Given the description of an element on the screen output the (x, y) to click on. 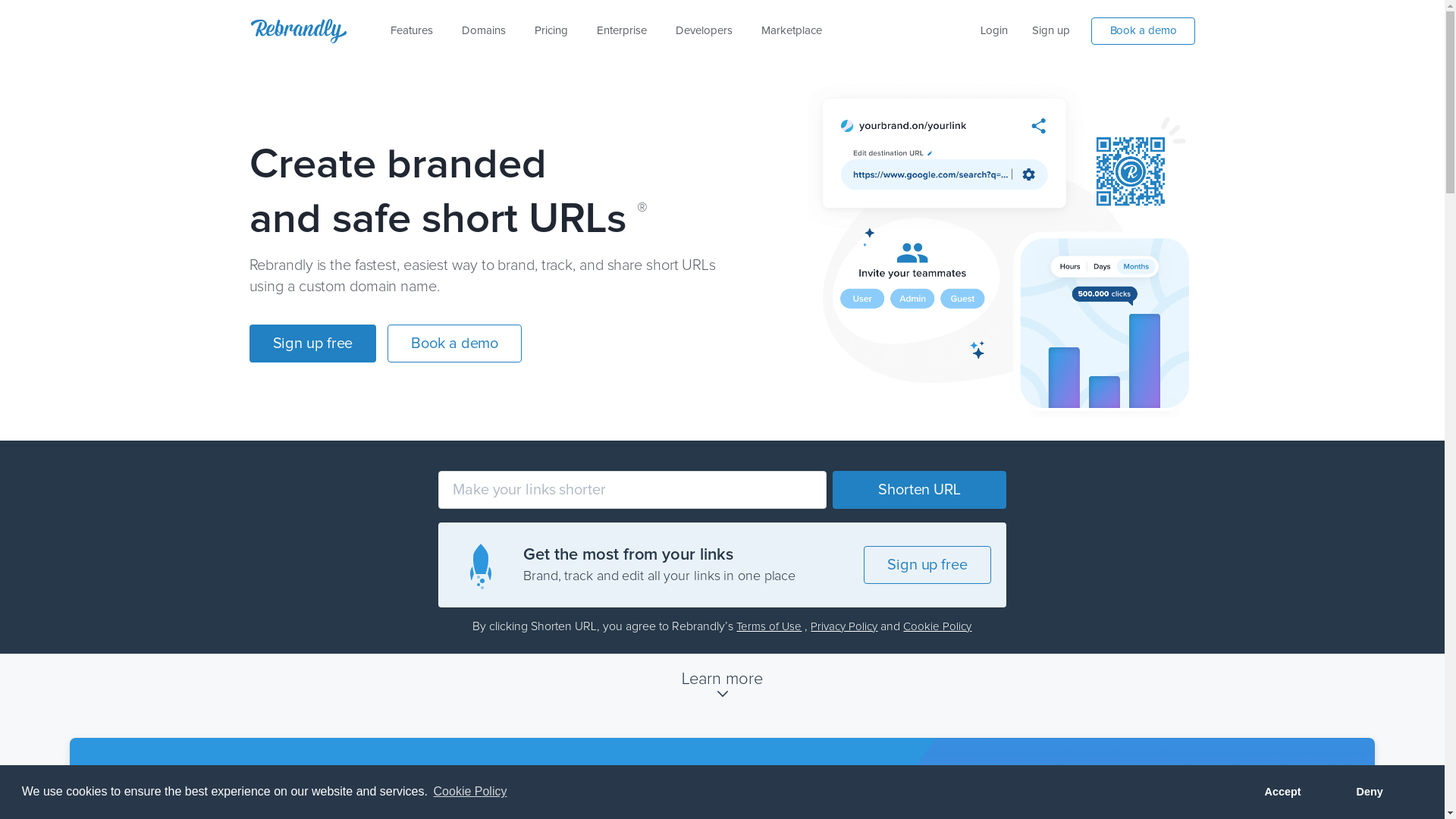
Cookie Policy Element type: text (937, 626)
Sign up free Element type: text (312, 343)
Sign up Element type: text (1050, 30)
Cookie Policy Element type: text (469, 791)
Domains Element type: text (483, 30)
Book a demo Element type: text (1143, 30)
Marketplace Element type: text (791, 30)
Enterprise Element type: text (621, 30)
Book a demo Element type: text (454, 343)
Book a demo Element type: text (1140, 31)
Sign up free Element type: text (927, 566)
Deny Element type: text (1369, 791)
Features Element type: text (411, 30)
Privacy Policy Element type: text (843, 626)
Book a demo Element type: text (454, 345)
Login Element type: text (993, 30)
Link Shortener and URL Shortener | Rebrandly Logo Element type: hover (297, 30)
Terms of Use Element type: text (768, 626)
Accept Element type: text (1282, 791)
Pricing Element type: text (551, 30)
Shorten URL Element type: text (919, 489)
URL Shortener and Link Shortener Image Element type: hover (1001, 250)
Sign up free Element type: text (927, 564)
Developers Element type: text (703, 30)
